Given the description of an element on the screen output the (x, y) to click on. 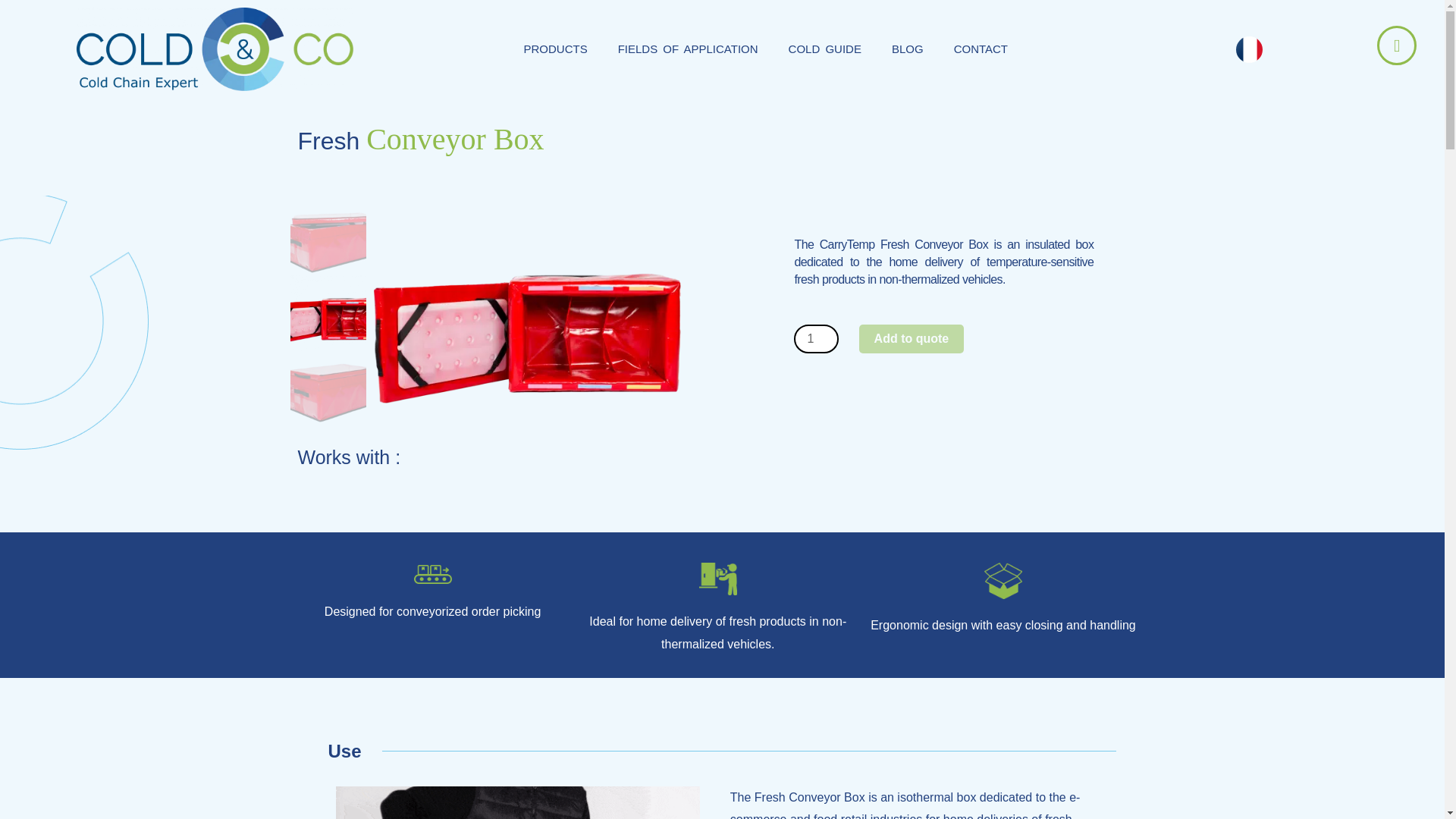
BLOG (907, 48)
CONTACT (981, 48)
Add to cart (911, 338)
PRODUCTS (555, 48)
1 (815, 338)
FIELDS OF APPLICATION (687, 48)
COLD GUIDE (824, 48)
